Given the description of an element on the screen output the (x, y) to click on. 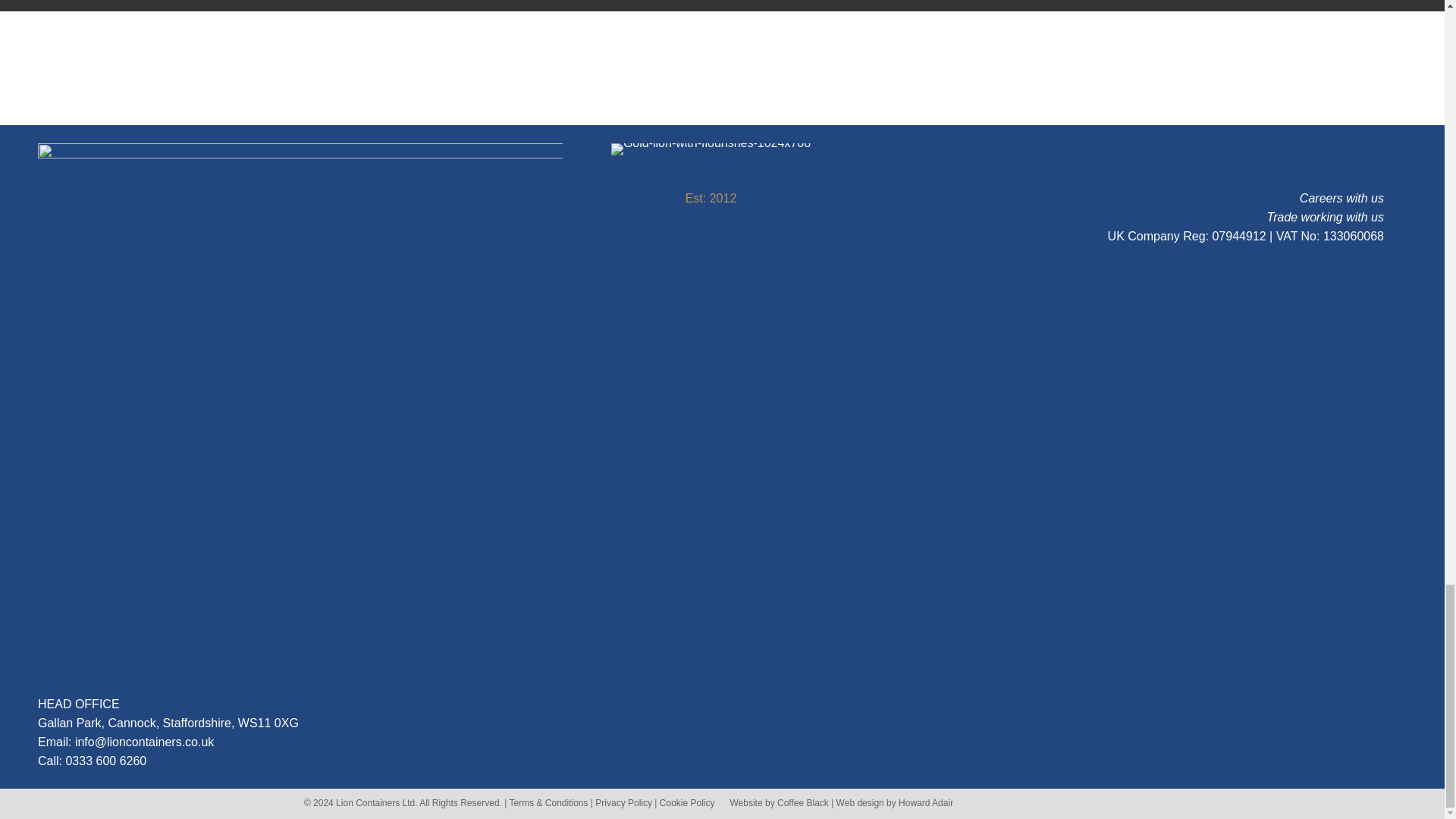
Gold-lion-with-flourishes-1024x708 (710, 149)
